Given the description of an element on the screen output the (x, y) to click on. 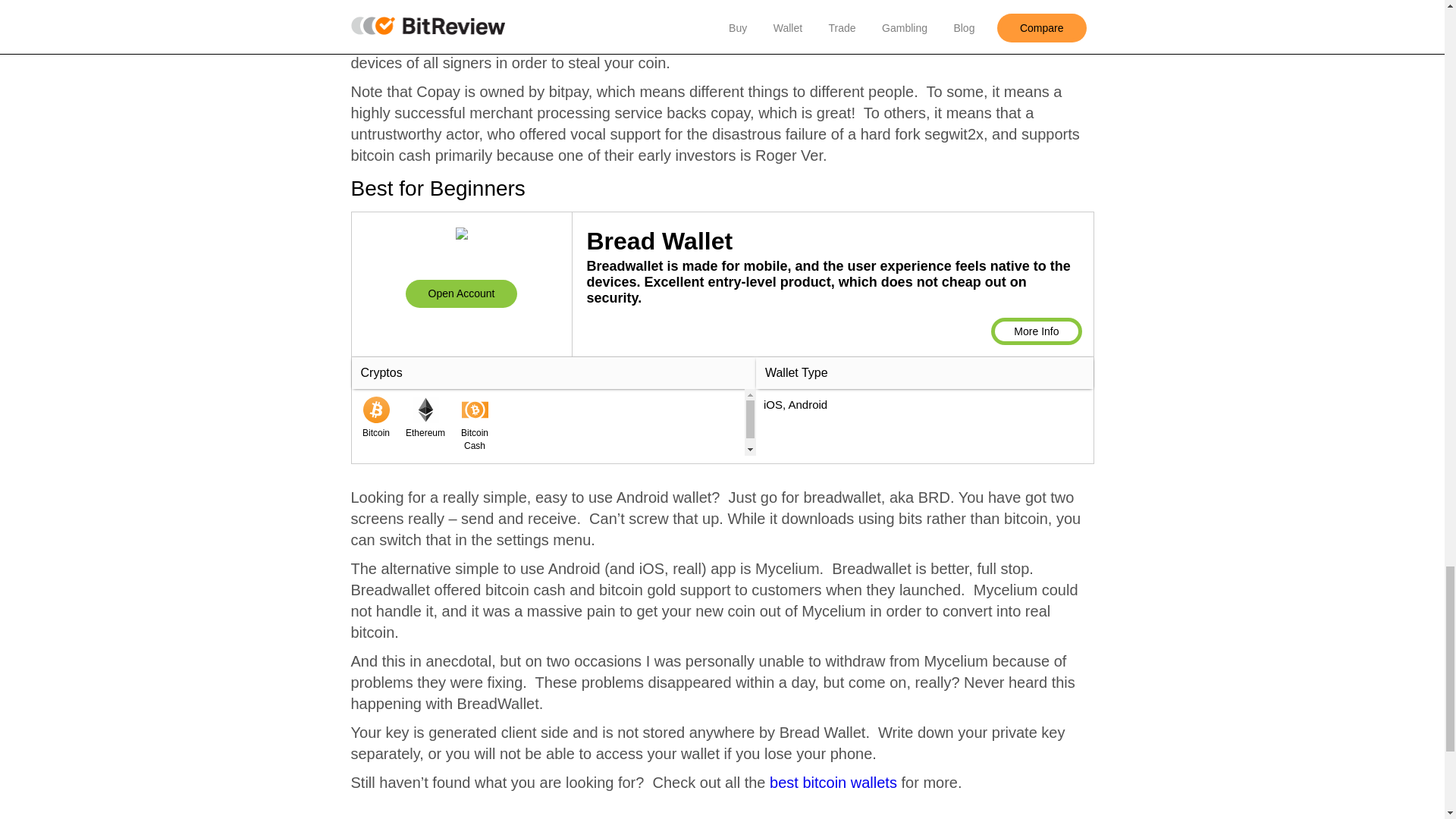
breadwallet (461, 293)
